Given the description of an element on the screen output the (x, y) to click on. 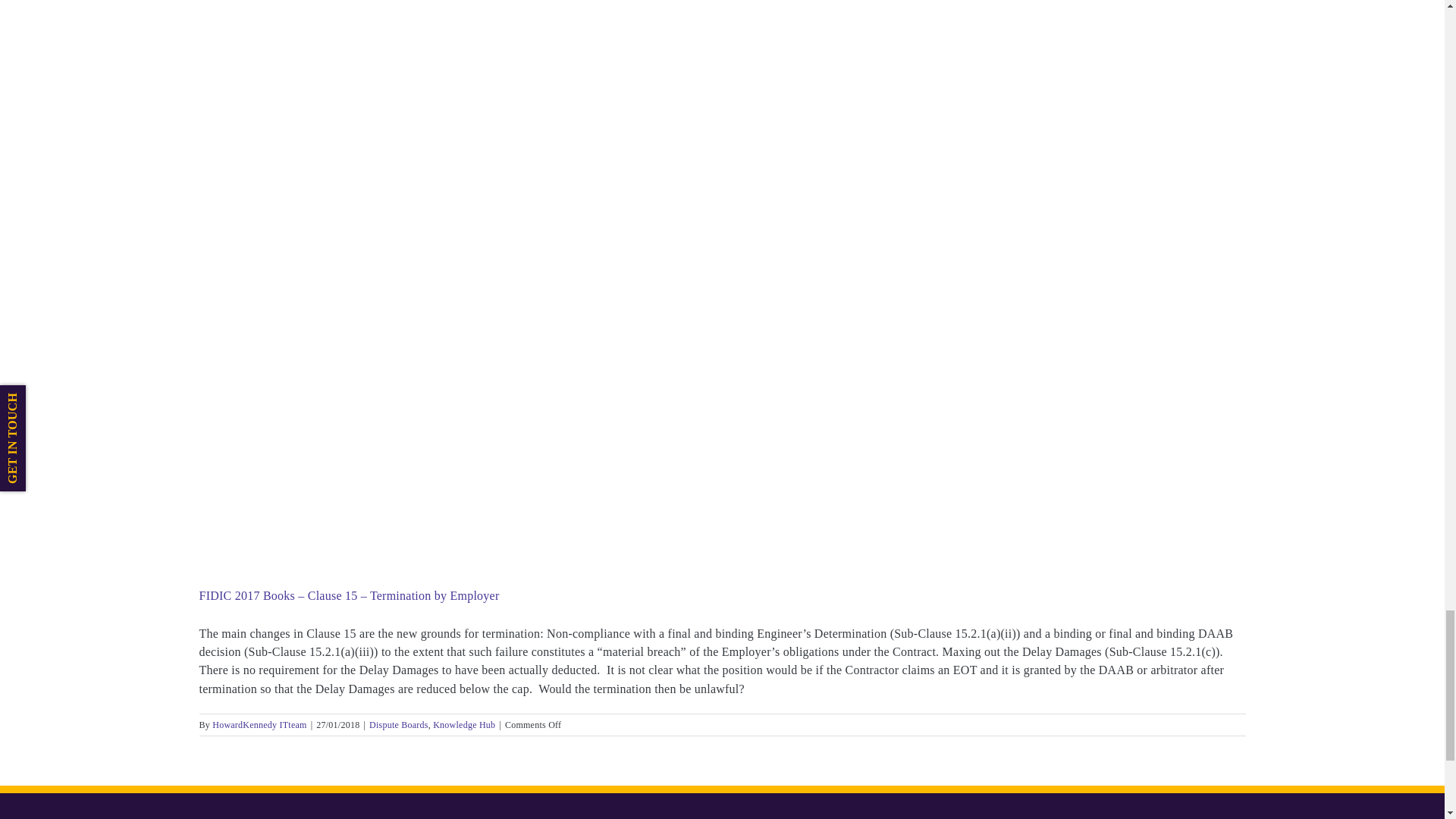
Knowledge Hub (463, 724)
HowardKennedy ITteam (258, 724)
Dispute Boards (398, 724)
Posts by HowardKennedy ITteam (258, 724)
